Given the description of an element on the screen output the (x, y) to click on. 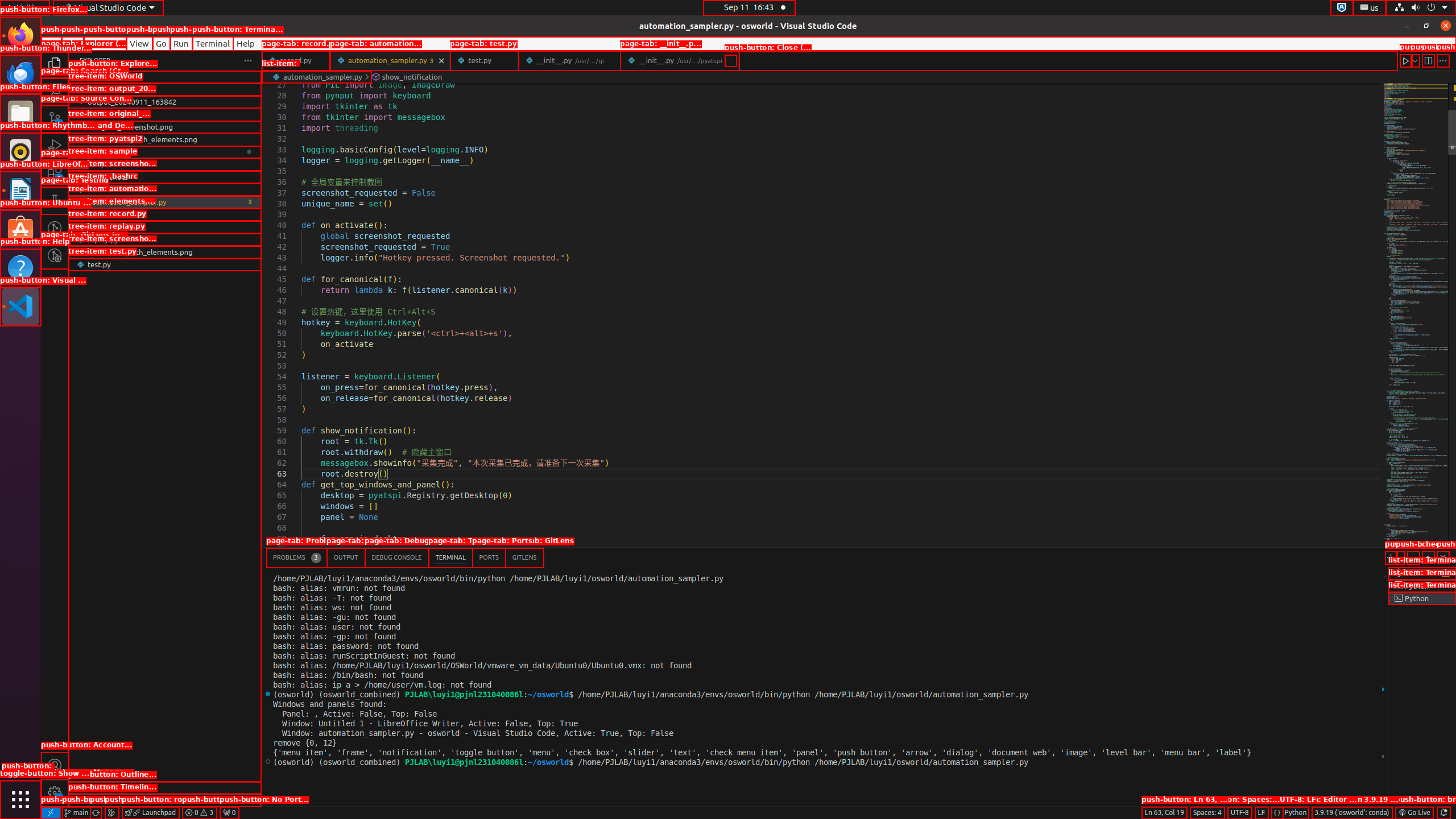
pyatspi2 Element type: tree-item (164, 151)
Terminal Element type: push-button (212, 43)
Run or Debug... Element type: push-button (1414, 60)
sample Element type: tree-item (164, 164)
